Given the description of an element on the screen output the (x, y) to click on. 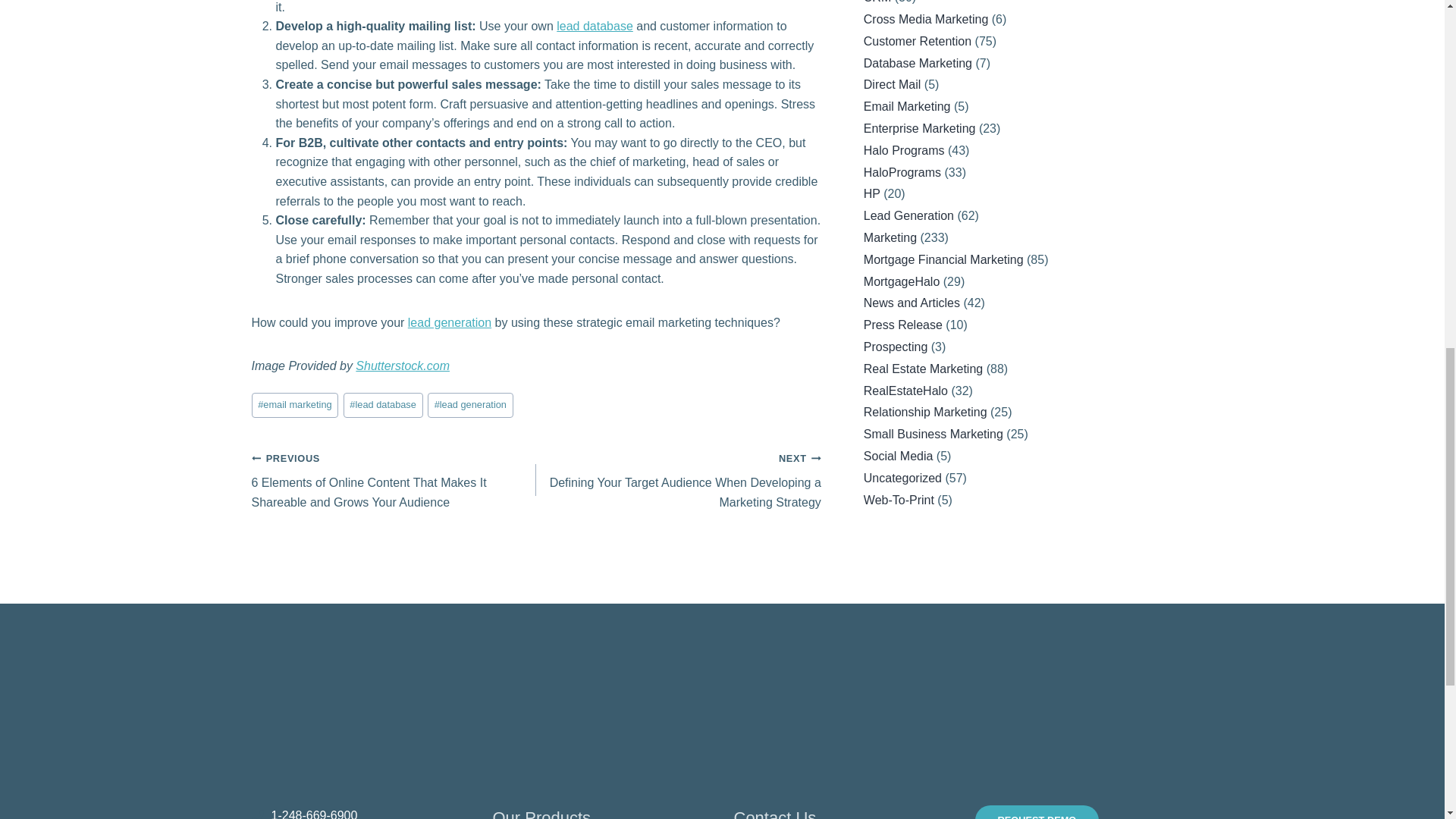
lead generation (470, 405)
Shutterstock.com (402, 365)
lead database (594, 25)
lead generation (449, 322)
lead database (383, 405)
email marketing (295, 405)
